Given the description of an element on the screen output the (x, y) to click on. 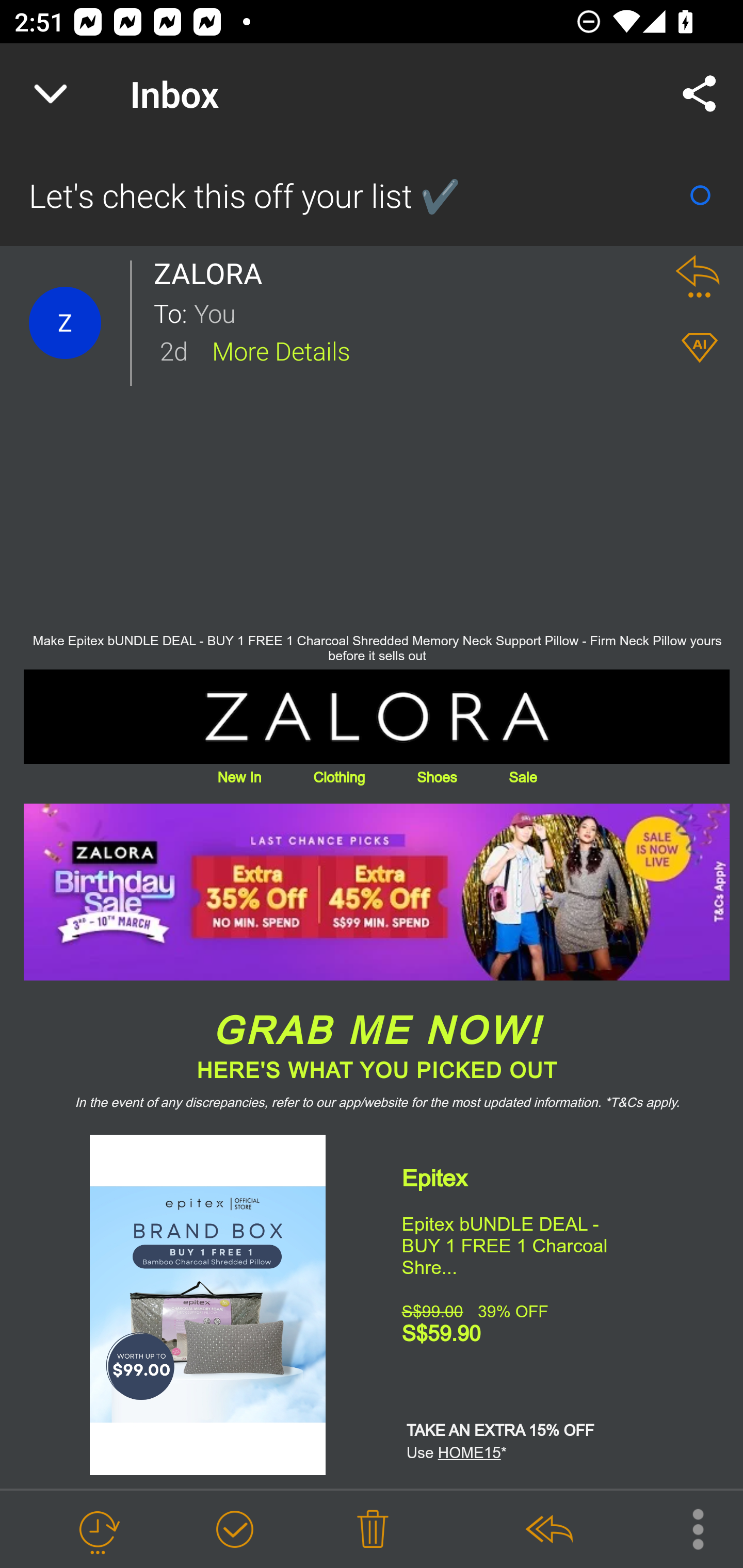
Navigate up (50, 93)
Share (699, 93)
Mark as Read (699, 194)
ZALORA (213, 273)
Contact Details (64, 322)
More Details (280, 349)
ZALORA (377, 716)
New In (238, 777)
Clothing (339, 777)
Shoes (436, 777)
Sale (522, 777)
click?upn=u001 (377, 891)
More Options (687, 1528)
Snooze (97, 1529)
Mark as Done (234, 1529)
Delete (372, 1529)
Reply All (548, 1529)
